Given the description of an element on the screen output the (x, y) to click on. 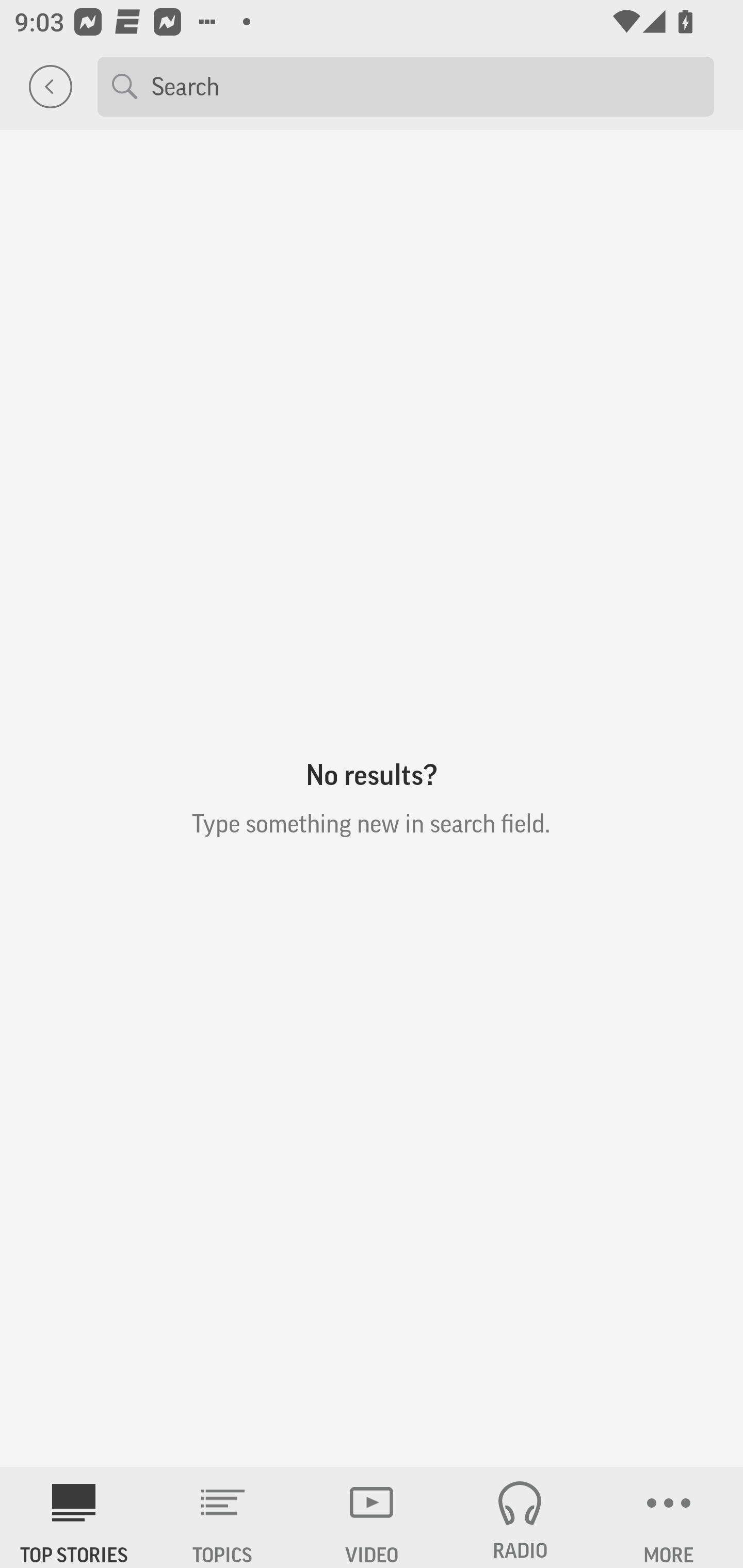
Search (425, 86)
AP News TOP STORIES (74, 1517)
TOPICS (222, 1517)
VIDEO (371, 1517)
RADIO (519, 1517)
MORE (668, 1517)
